Given the description of an element on the screen output the (x, y) to click on. 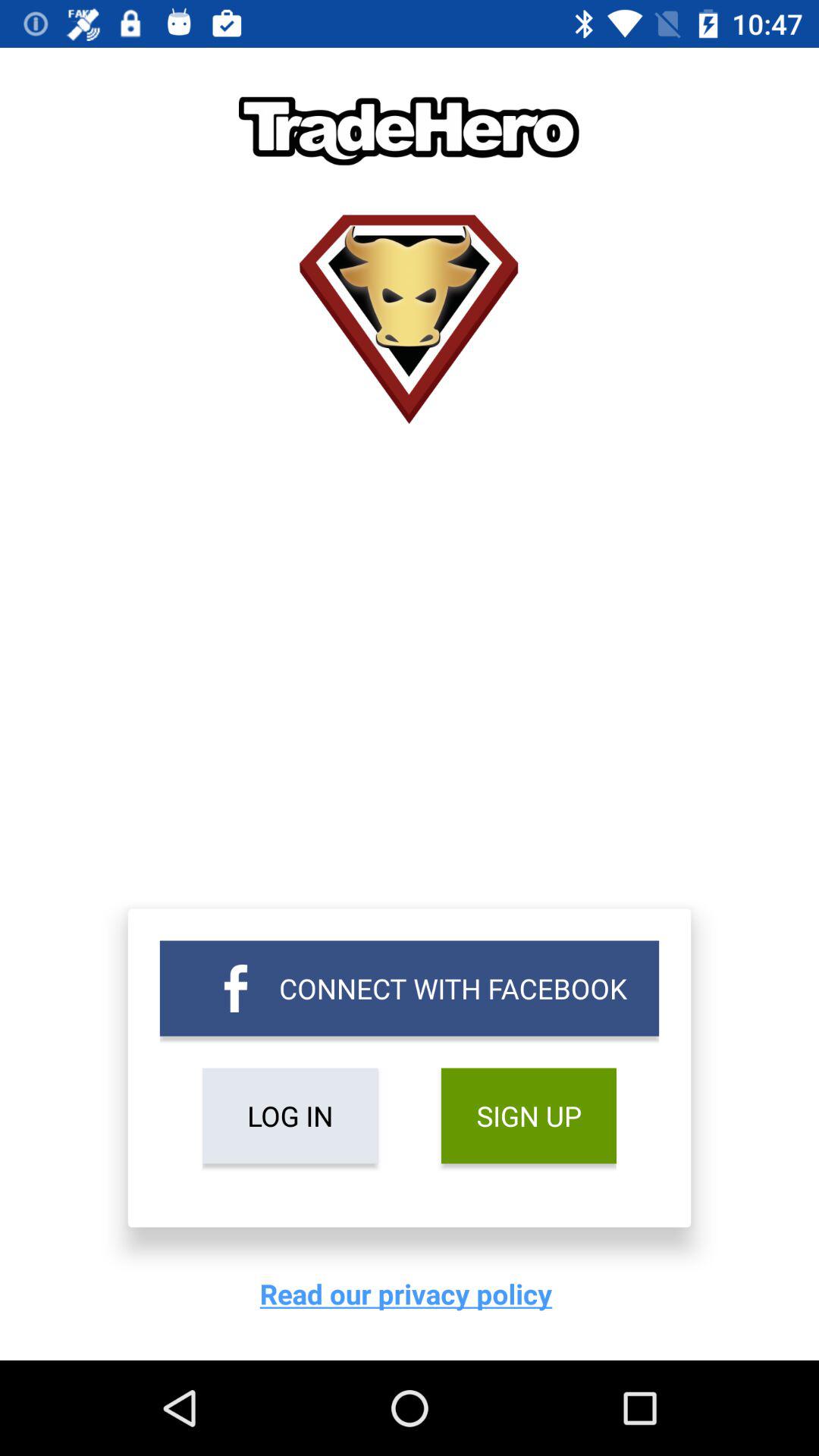
turn on read our privacy (409, 1293)
